Given the description of an element on the screen output the (x, y) to click on. 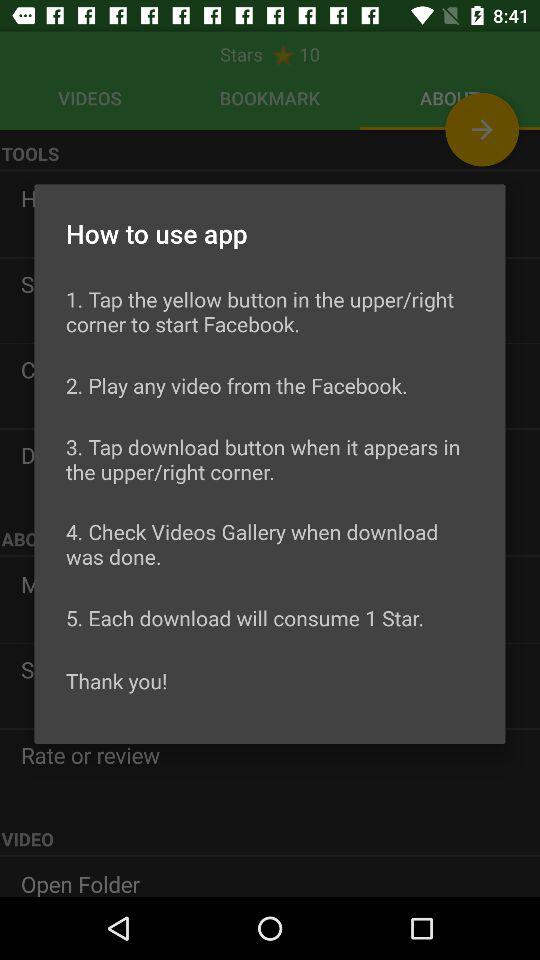
turn on 2 play any item (236, 385)
